Given the description of an element on the screen output the (x, y) to click on. 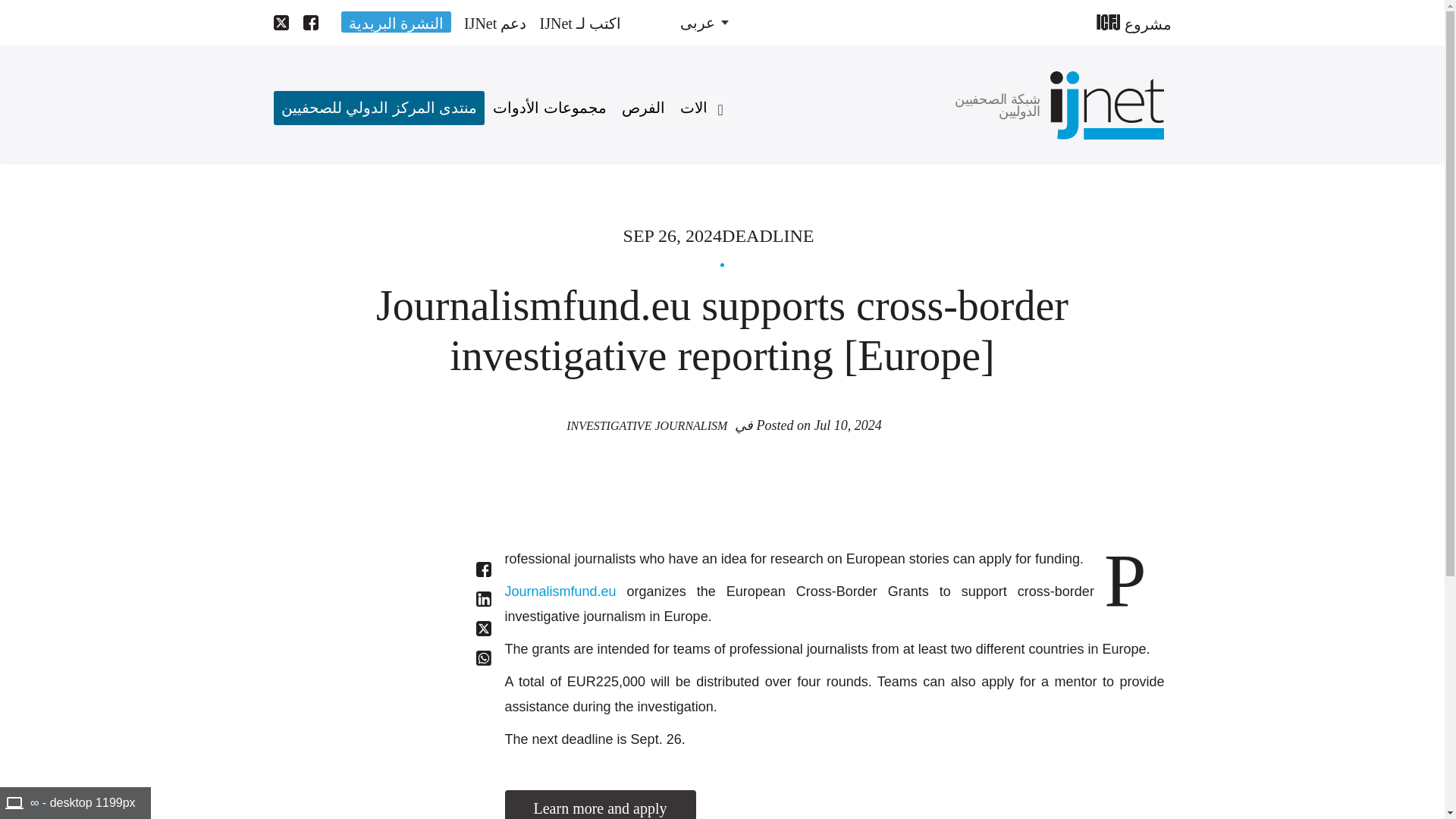
Home (987, 105)
Subscribe to the newsletter modal (395, 20)
Twitter (484, 628)
Whatsapp (484, 657)
Facebook (484, 569)
Home (1106, 105)
Toggle Dropdown (704, 22)
Linkedin (484, 598)
